Given the description of an element on the screen output the (x, y) to click on. 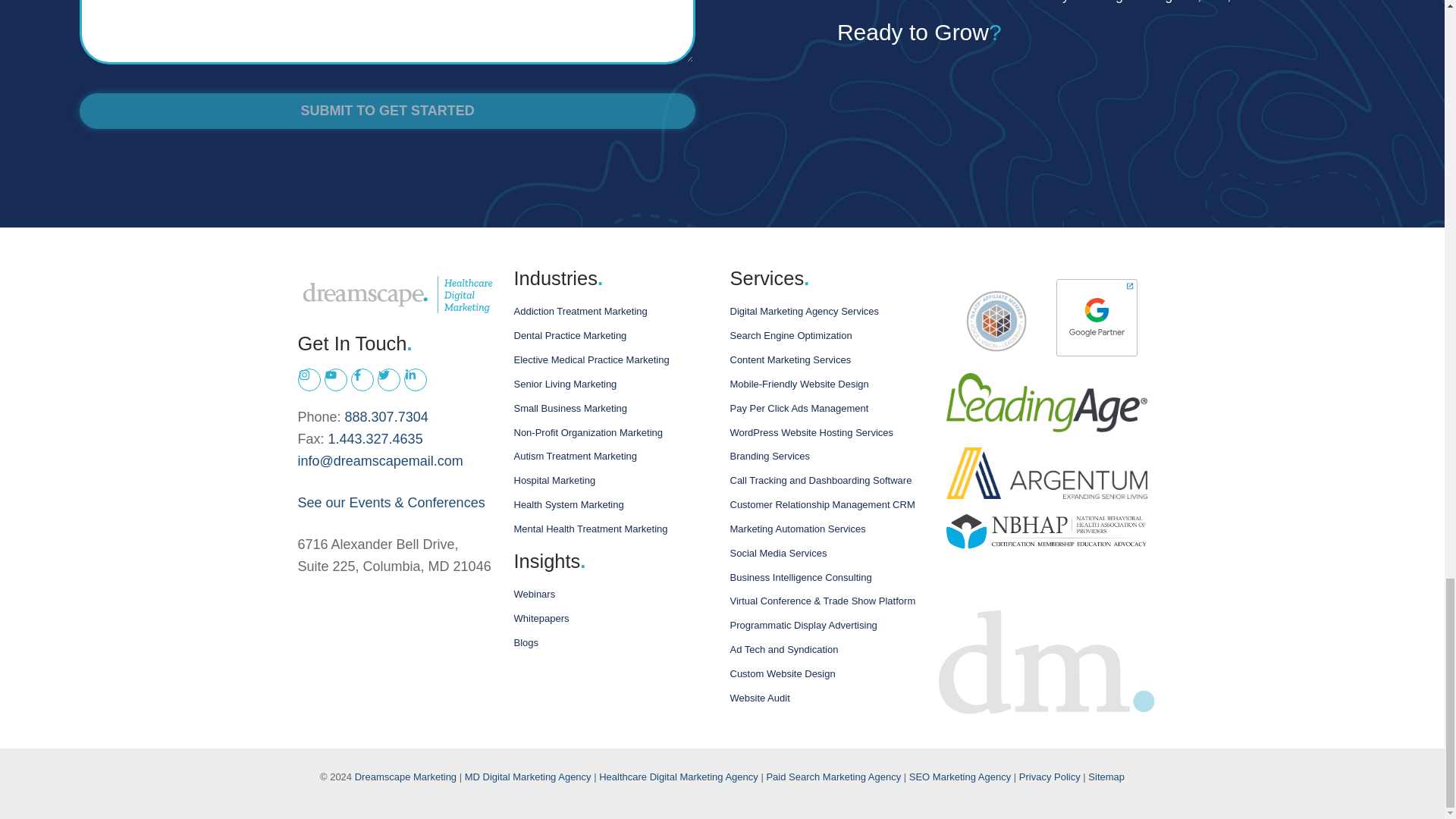
Submit to Get Started (387, 110)
